Given the description of an element on the screen output the (x, y) to click on. 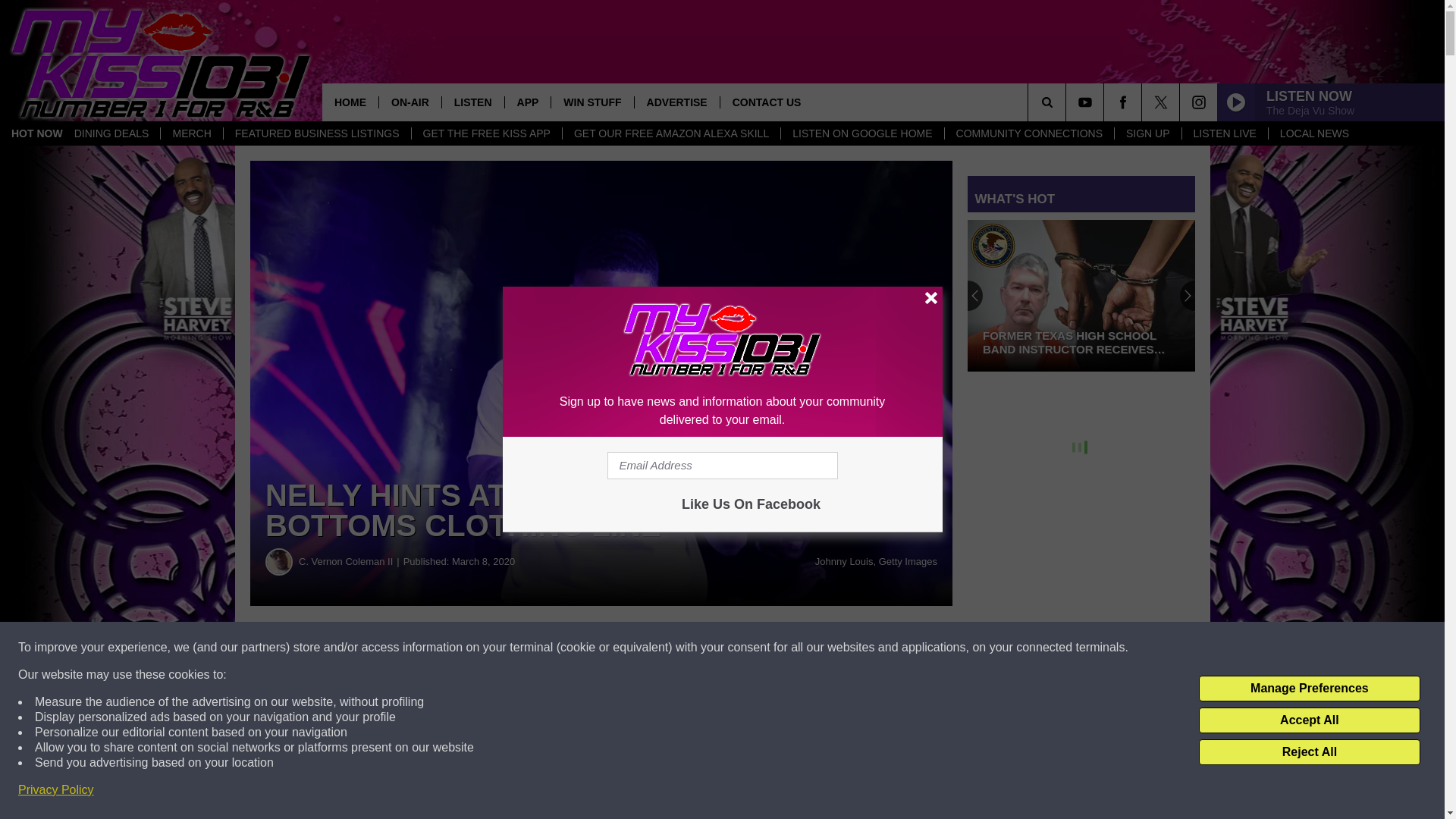
Share on Twitter (741, 647)
SEARCH (1068, 102)
Privacy Policy (55, 789)
ADVERTISE (676, 102)
ON-AIR (409, 102)
GET OUR FREE AMAZON ALEXA SKILL (671, 133)
SIGN UP (1146, 133)
COMMUNITY CONNECTIONS (1028, 133)
CONTACT US (766, 102)
APP (527, 102)
FEATURED BUSINESS LISTINGS (316, 133)
LOCAL NEWS (1313, 133)
HOME (349, 102)
Accept All (1309, 720)
MERCH (191, 133)
